Given the description of an element on the screen output the (x, y) to click on. 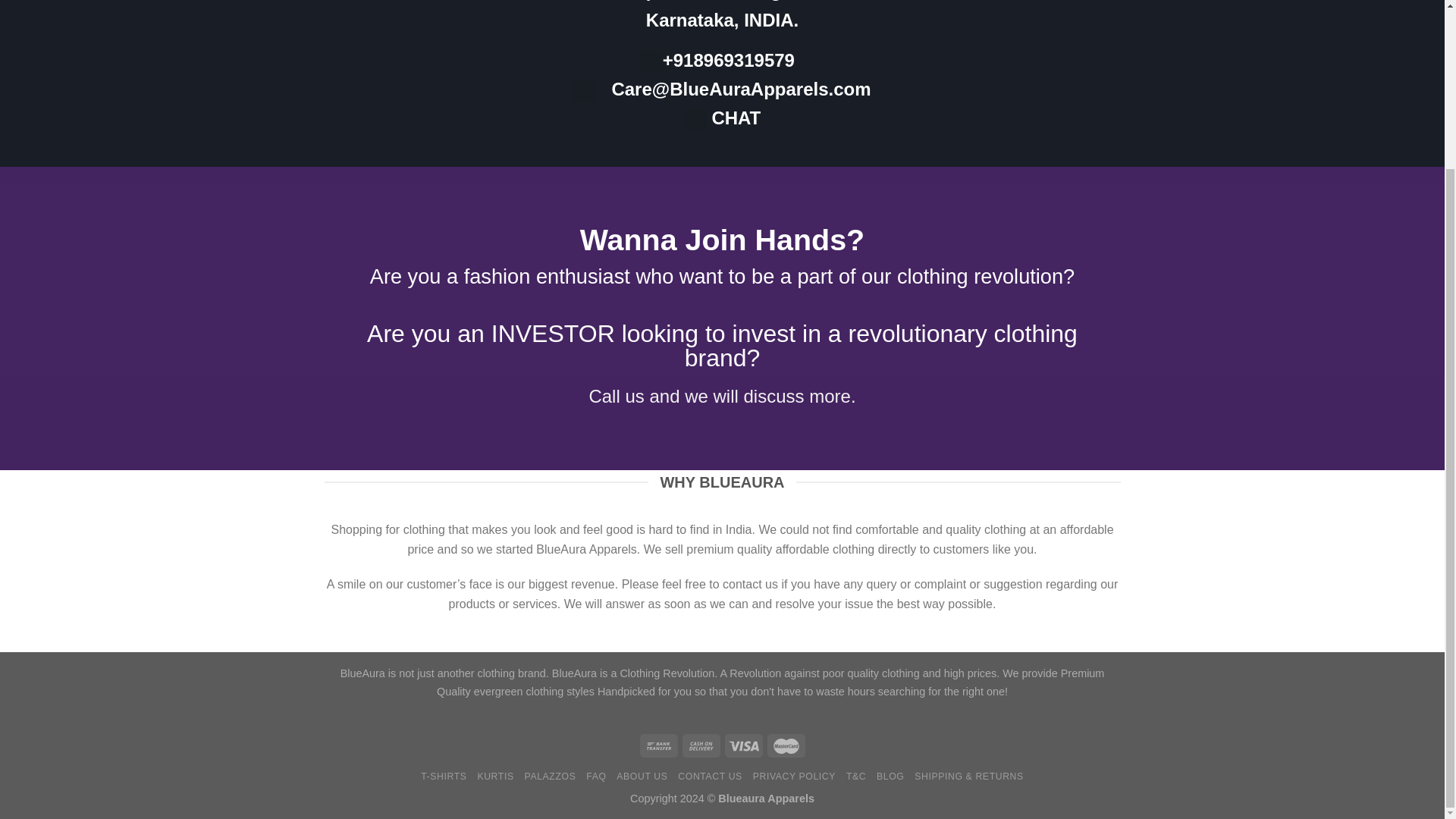
PRIVACY POLICY (793, 776)
FAQ (595, 776)
ABOUT US (640, 776)
BLOG (890, 776)
T-SHIRTS (442, 776)
PALAZZOS (550, 776)
CONTACT US (710, 776)
CHAT (735, 117)
KURTIS (495, 776)
